Given the description of an element on the screen output the (x, y) to click on. 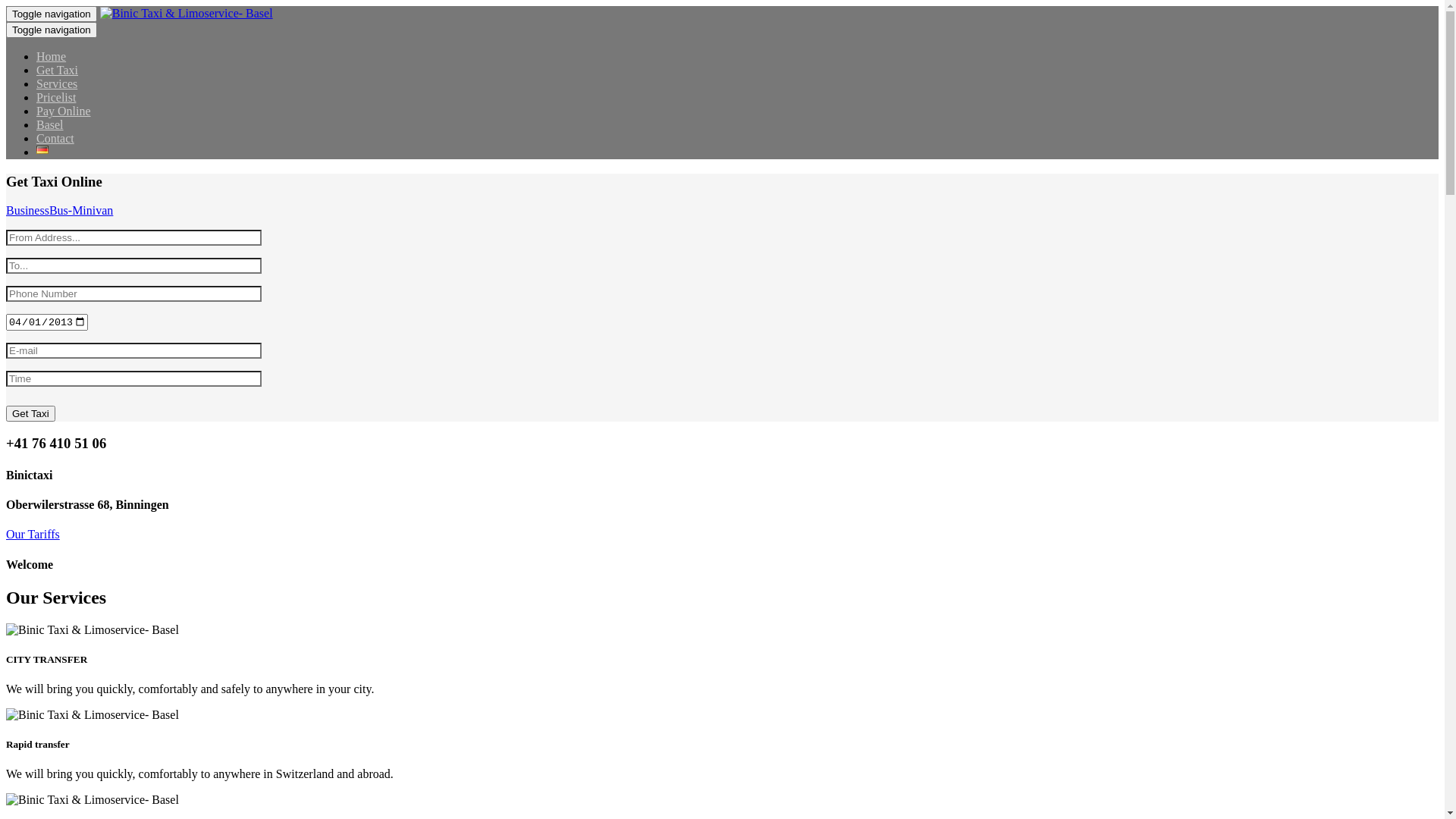
Get Taxi Element type: text (30, 413)
Get Taxi Element type: text (57, 69)
Binic Taxi & Limoservice- Basel Element type: hover (92, 799)
Contact Element type: text (55, 137)
Binic Taxi & Limoservice- Basel Element type: hover (92, 630)
Binic Taxi & Limoservice- Basel Element type: hover (92, 714)
Toggle navigation Element type: text (51, 29)
Pay Online Element type: text (63, 110)
Toggle navigation Element type: text (51, 13)
Home Element type: text (50, 56)
Business Element type: text (27, 209)
Bus-Minivan Element type: text (80, 209)
Basel Element type: text (49, 124)
Our Tariffs Element type: text (32, 533)
Pricelist Element type: text (55, 97)
Services Element type: text (56, 83)
